Given the description of an element on the screen output the (x, y) to click on. 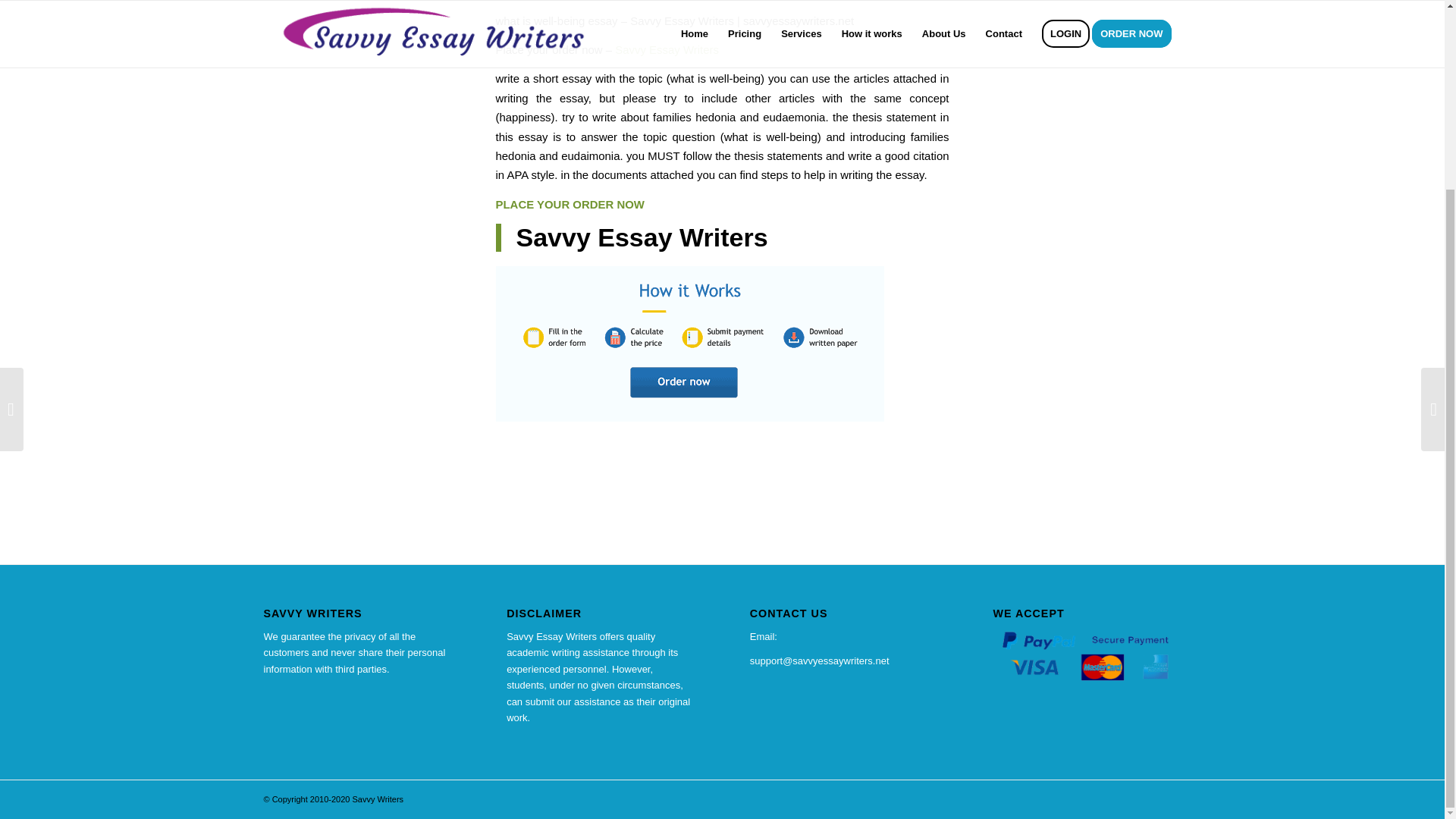
ORDER NOW (608, 204)
Savvy Essay Writers (641, 236)
Savvy Essay Writers (666, 49)
